Given the description of an element on the screen output the (x, y) to click on. 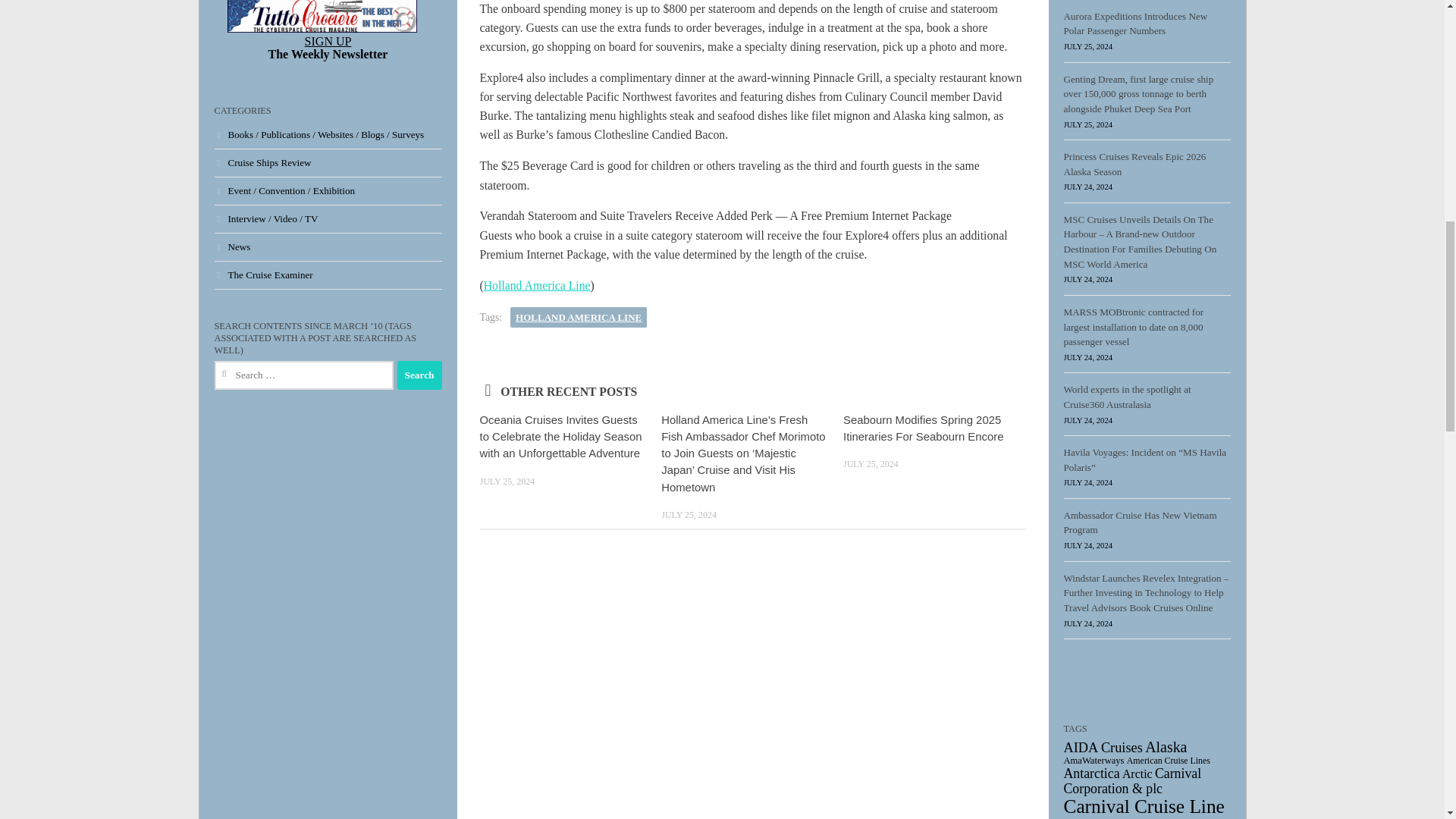
SIGN UP (328, 41)
Search (419, 375)
Holland America Line (537, 285)
Search (419, 375)
HOLLAND AMERICA LINE (578, 317)
The Cruise Examiner (263, 274)
News (232, 246)
Cruise Ships Review (262, 162)
Search (419, 375)
